Given the description of an element on the screen output the (x, y) to click on. 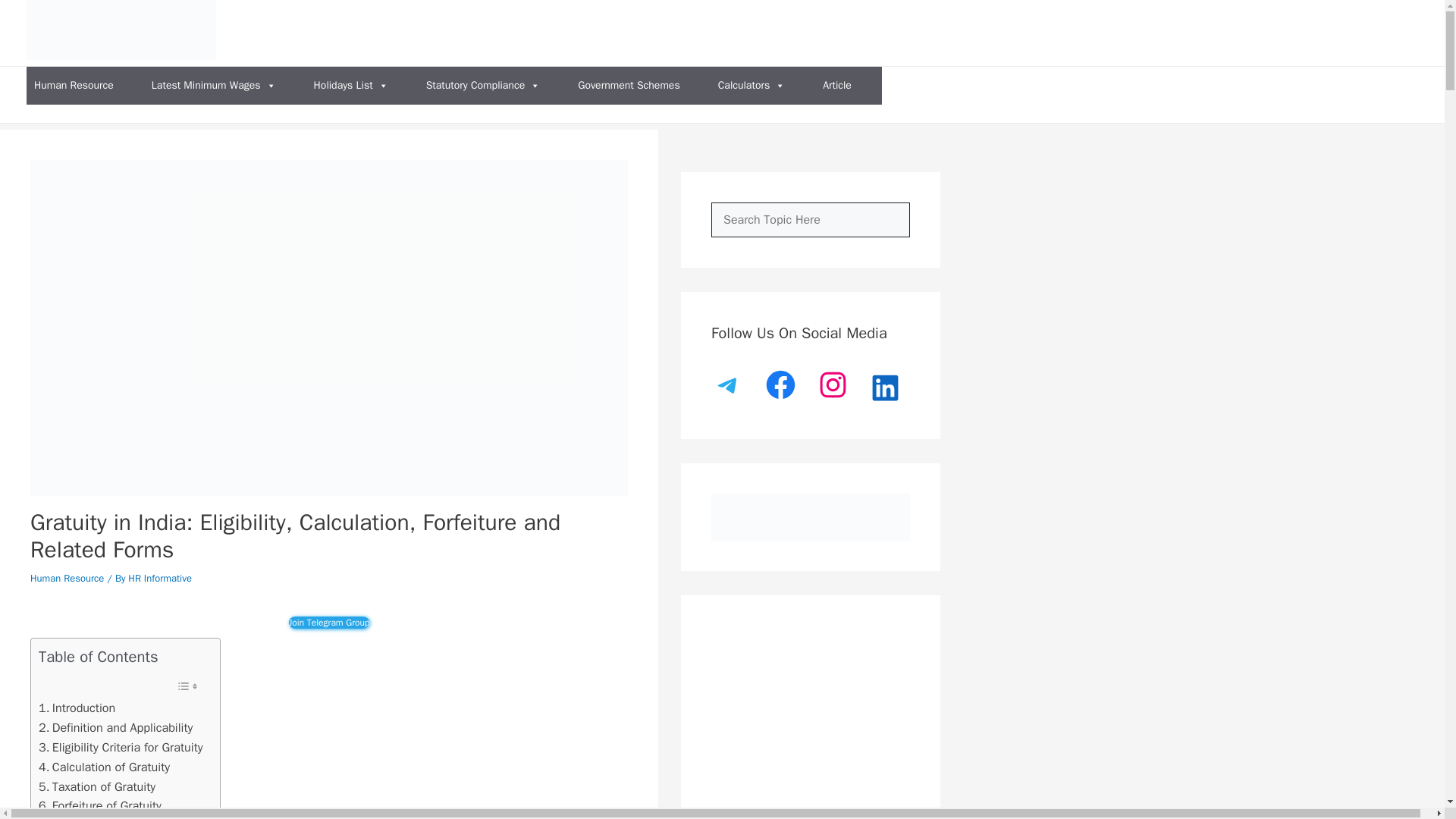
Definition and Applicability (115, 727)
Forfeiture of Gratuity (100, 805)
Latest Minimum Wages (213, 85)
Eligibility Criteria for Gratuity (121, 747)
Introduction (77, 708)
Taxation of Gratuity (97, 786)
Human Resource (73, 85)
Calculation of Gratuity (104, 767)
View all posts by HR Informative (160, 577)
Forms Pertaining to Gratuity (119, 817)
